Given the description of an element on the screen output the (x, y) to click on. 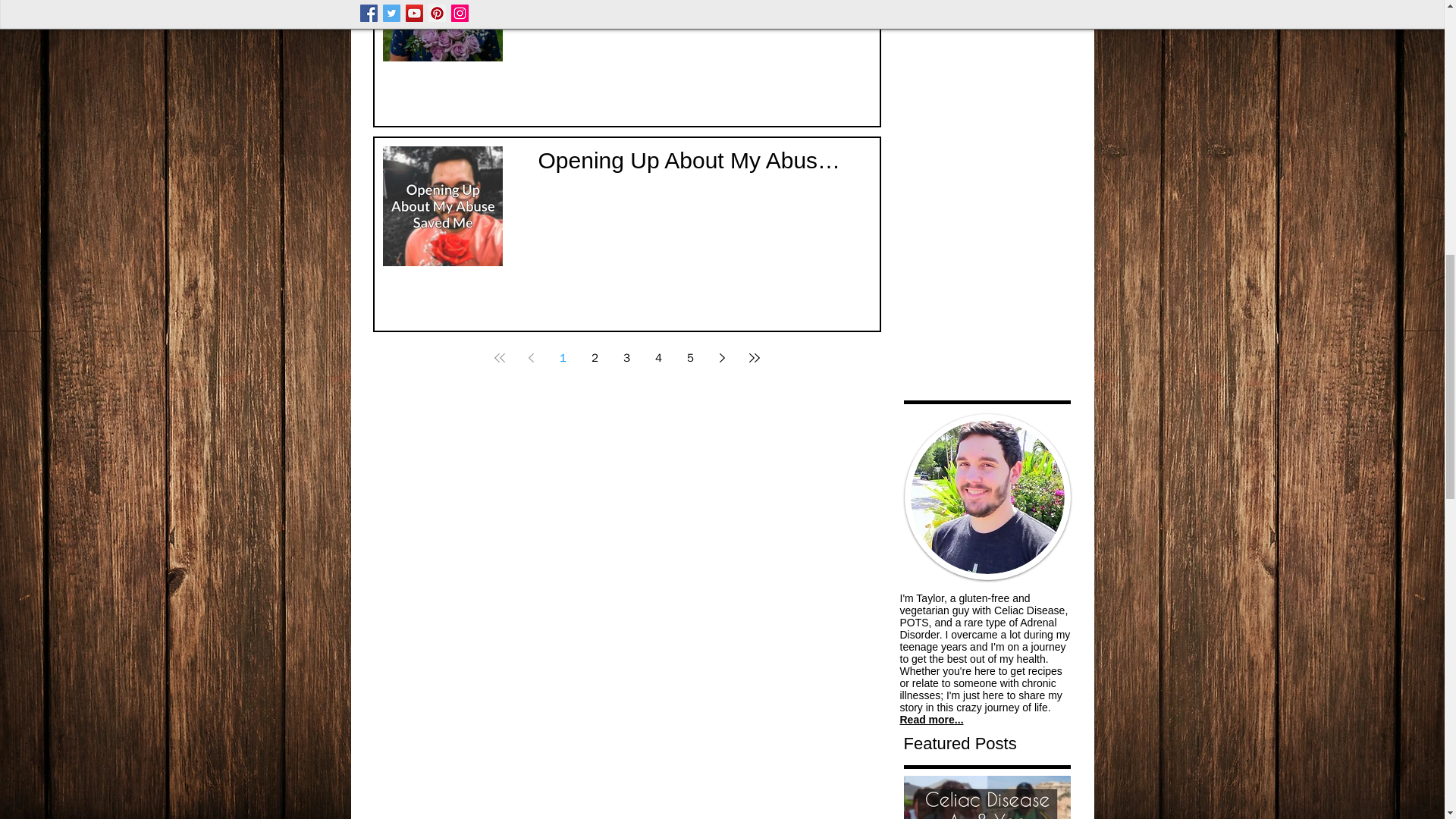
3 (626, 357)
4 (658, 357)
Read more... (930, 719)
5 (690, 357)
Opening Up About My Abuse Saved Me (690, 163)
2 (594, 357)
